Given the description of an element on the screen output the (x, y) to click on. 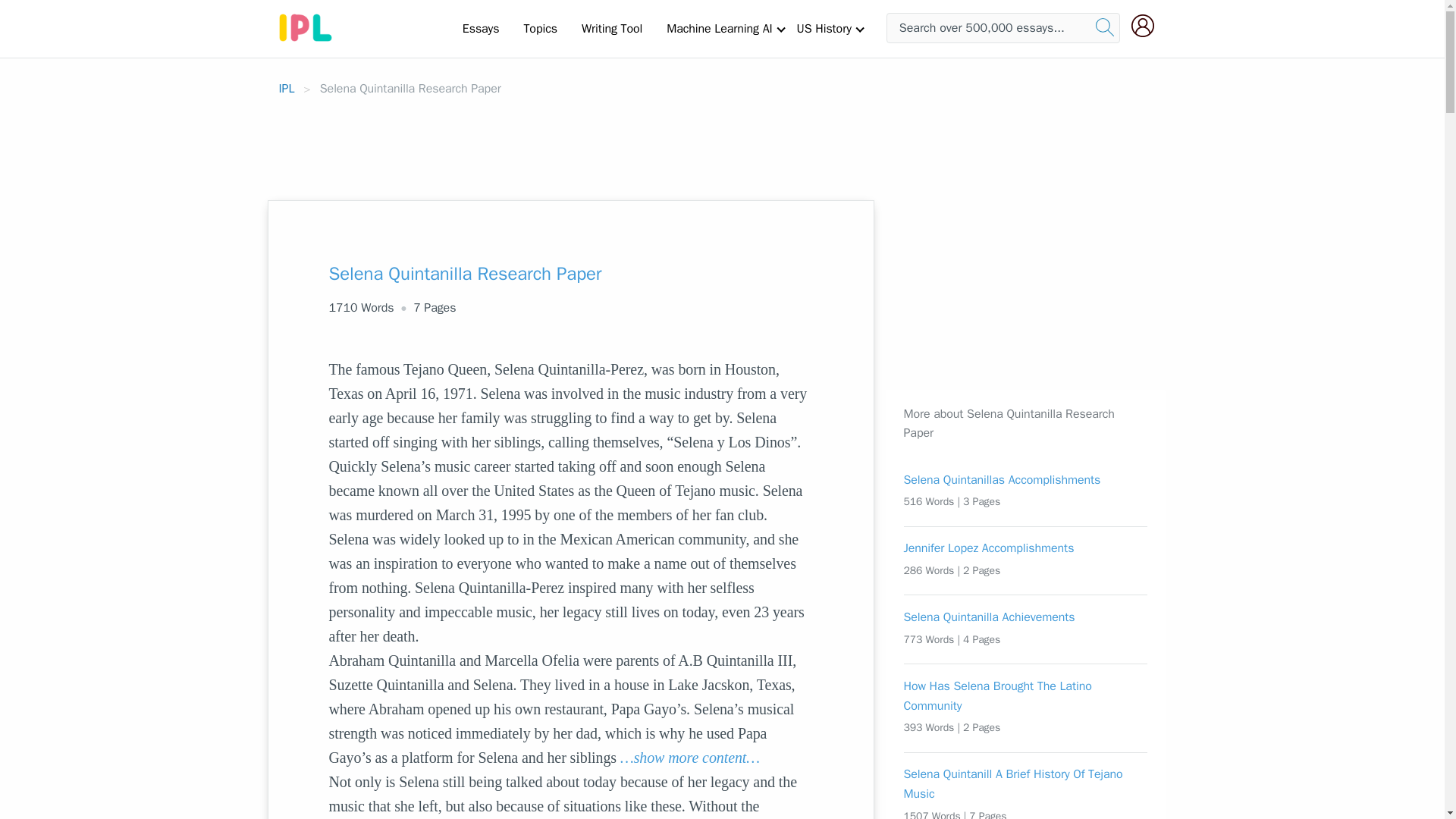
US History (823, 28)
IPL (287, 88)
Essays (480, 28)
Machine Learning AI (718, 28)
Writing Tool (611, 28)
Topics (540, 28)
